Given the description of an element on the screen output the (x, y) to click on. 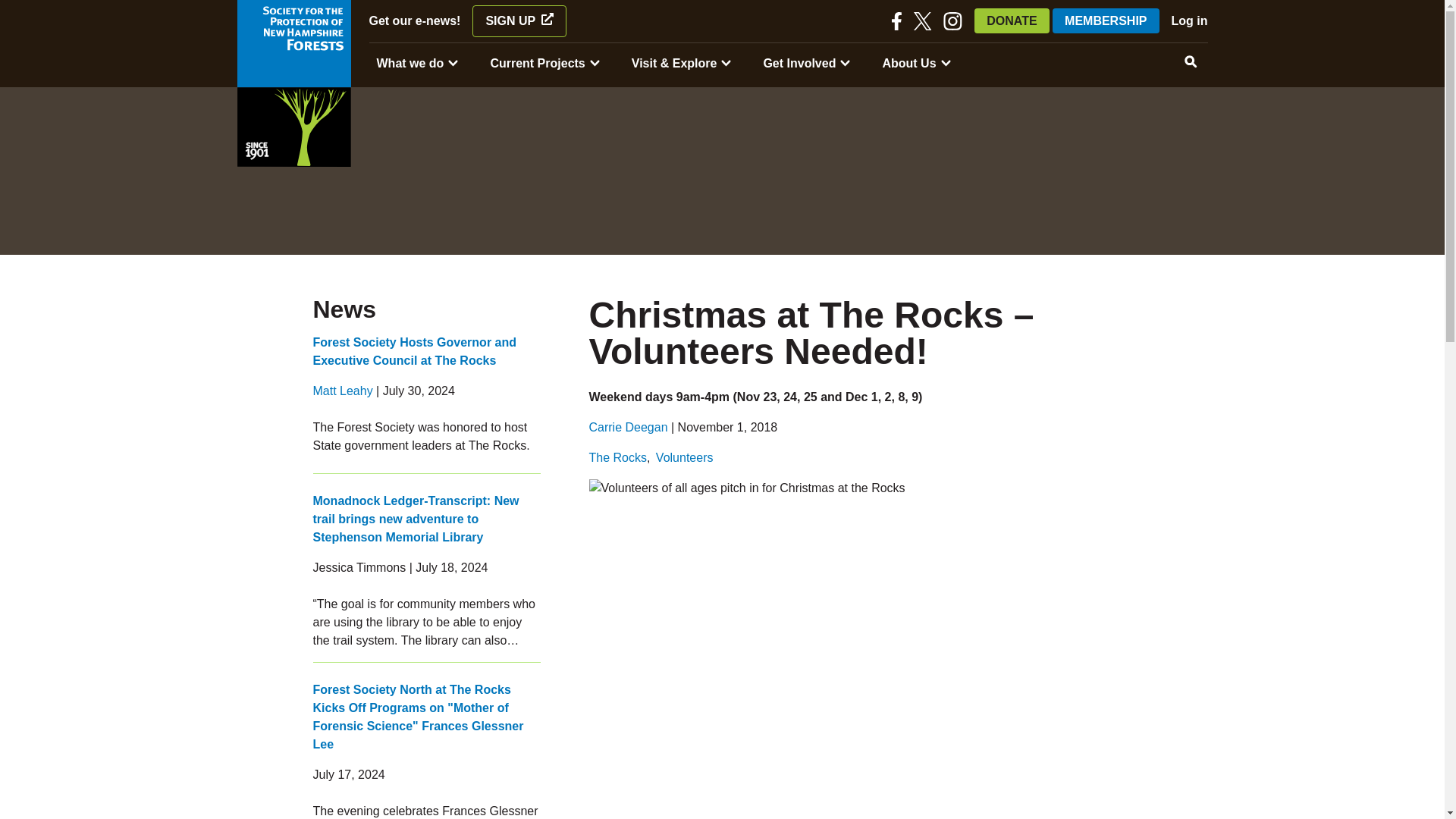
Forest Society on Twitter (922, 21)
More "What we do" pages (453, 63)
More "Current Projects" pages (594, 63)
SIGN UP (518, 20)
Log in (1190, 20)
DONATE (1011, 20)
Open search (1190, 62)
What we do (409, 63)
MEMBERSHIP (1105, 20)
Current Projects (537, 63)
Forest Society on Instagram (952, 21)
